Given the description of an element on the screen output the (x, y) to click on. 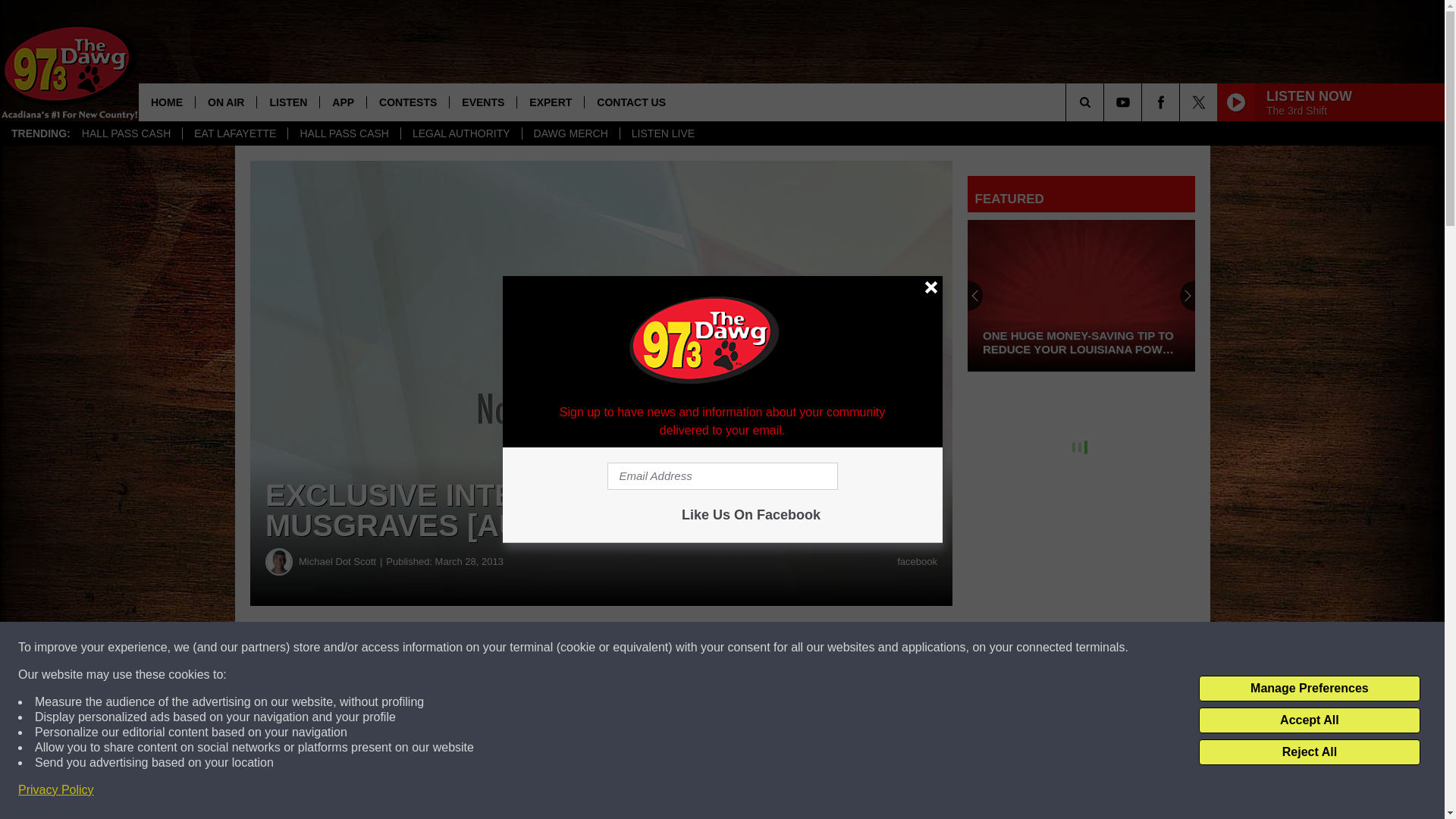
Accept All (1309, 720)
Share on Twitter (741, 647)
HOME (166, 102)
Privacy Policy (55, 789)
HALL PASS CASH (343, 133)
Email Address (722, 475)
SEARCH (1106, 102)
LISTEN LIVE (663, 133)
ON AIR (225, 102)
Share on Facebook (460, 647)
DAWG MERCH (570, 133)
Manage Preferences (1309, 688)
Reject All (1309, 751)
EVENTS (482, 102)
SEARCH (1106, 102)
